Given the description of an element on the screen output the (x, y) to click on. 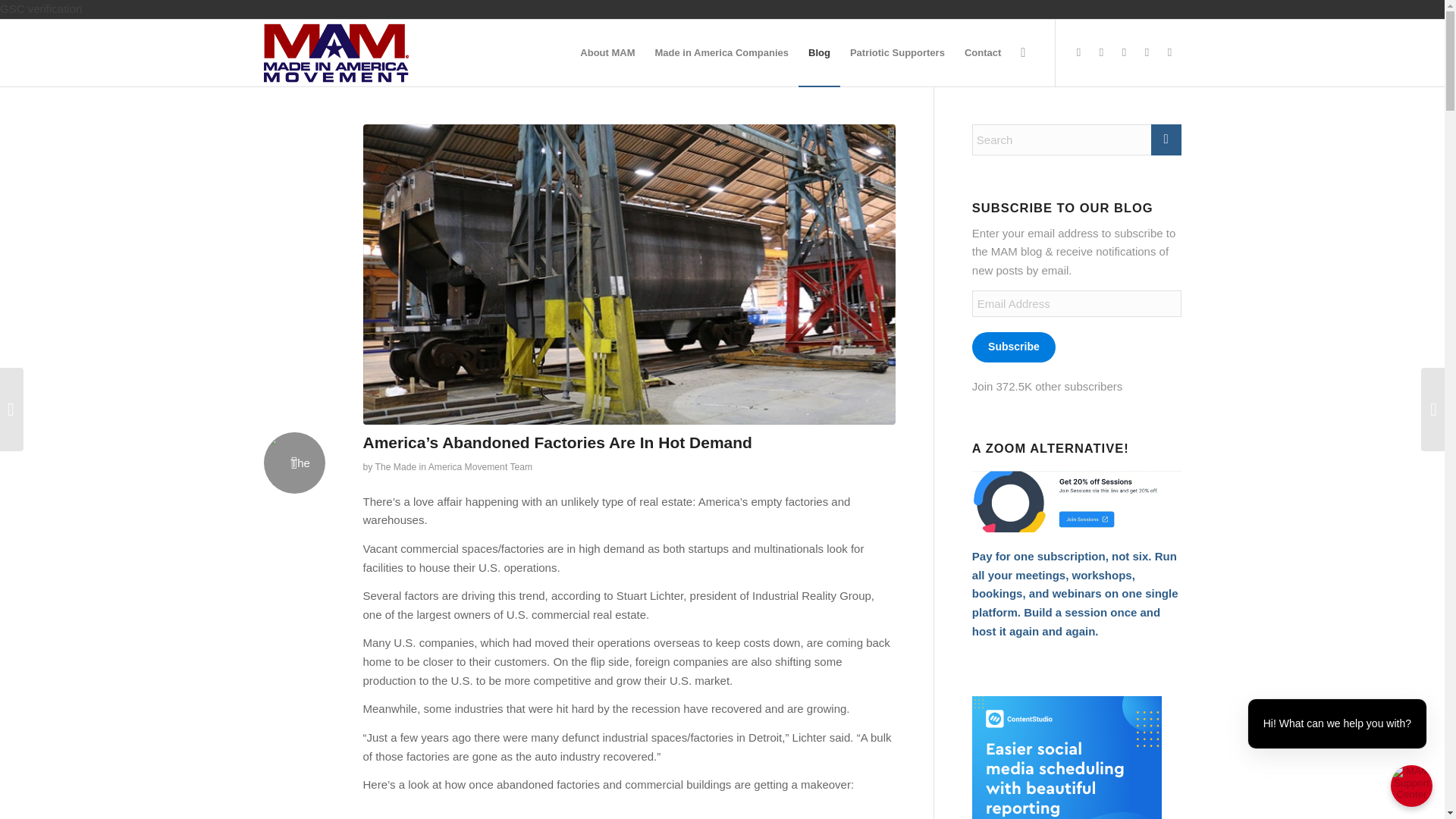
Patriotic Supporters (897, 52)
Facebook (1078, 51)
Pinterest (1124, 51)
Posts by The Made in America Movement Team (453, 466)
LinkedIn (1169, 51)
X (1101, 51)
Instagram (1146, 51)
Made in America Companies (722, 52)
The Made in America Movement Team (453, 466)
Contact (982, 52)
Blog (818, 52)
About MAM (607, 52)
